Given the description of an element on the screen output the (x, y) to click on. 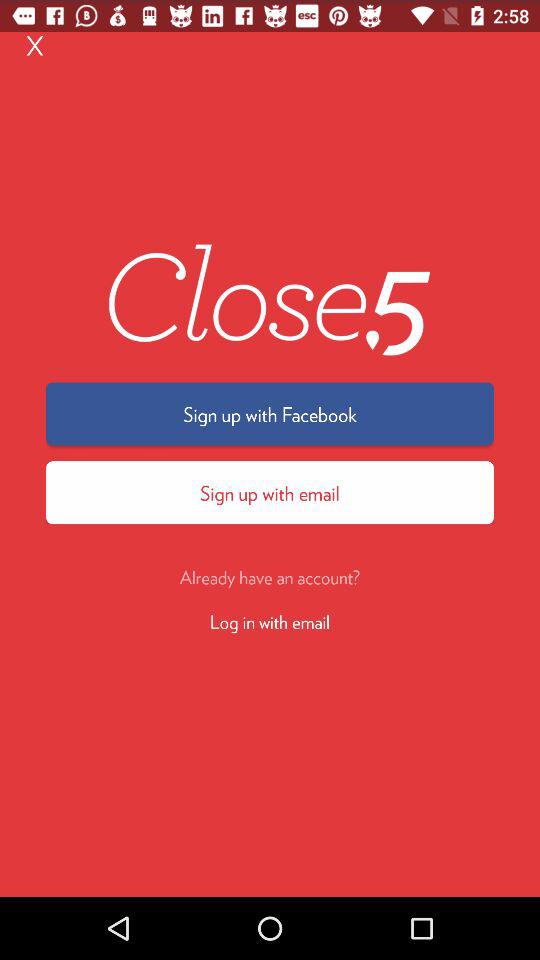
press log in with icon (269, 620)
